Given the description of an element on the screen output the (x, y) to click on. 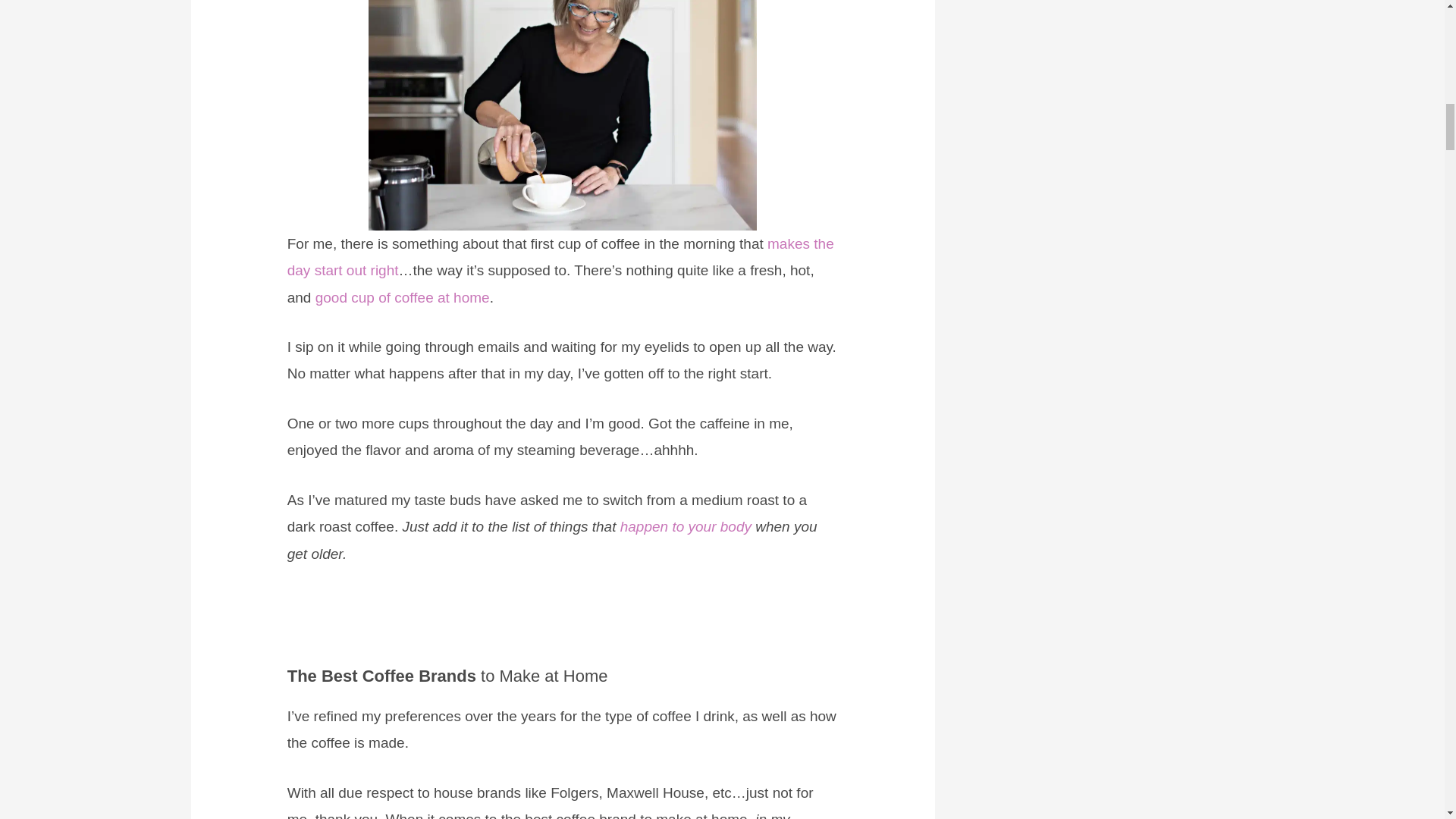
happen to your body (685, 526)
What Happens to Your Body When You Eat Healthy? (685, 526)
good cup of coffee at home (402, 297)
makes the day start out right (560, 256)
